Given the description of an element on the screen output the (x, y) to click on. 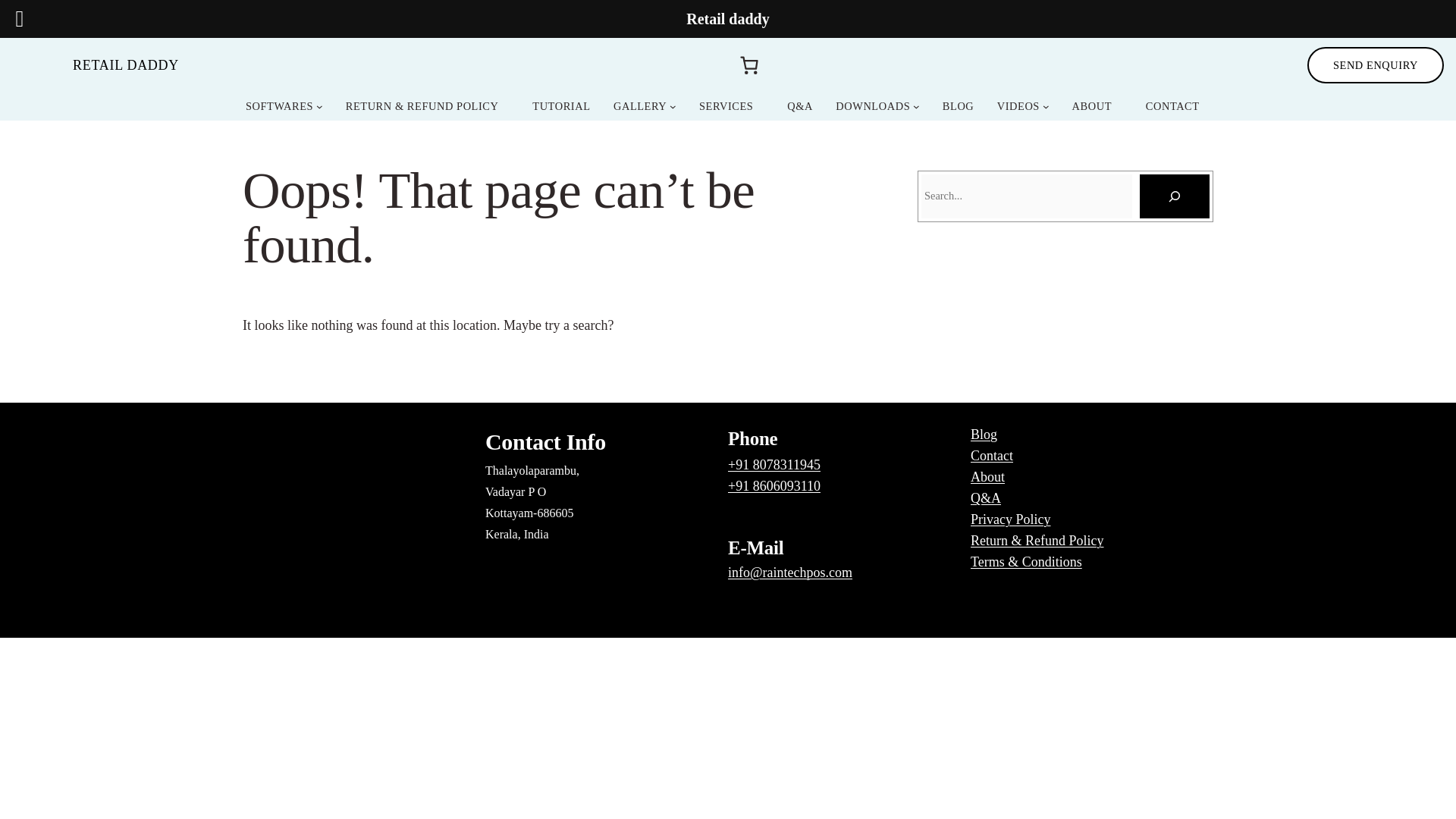
RETAIL DADDY (125, 64)
SEND ENQUIRY (1375, 64)
SERVICES (726, 106)
SOFTWARES (283, 106)
GALLERY (644, 106)
TUTORIAL (561, 106)
